Given the description of an element on the screen output the (x, y) to click on. 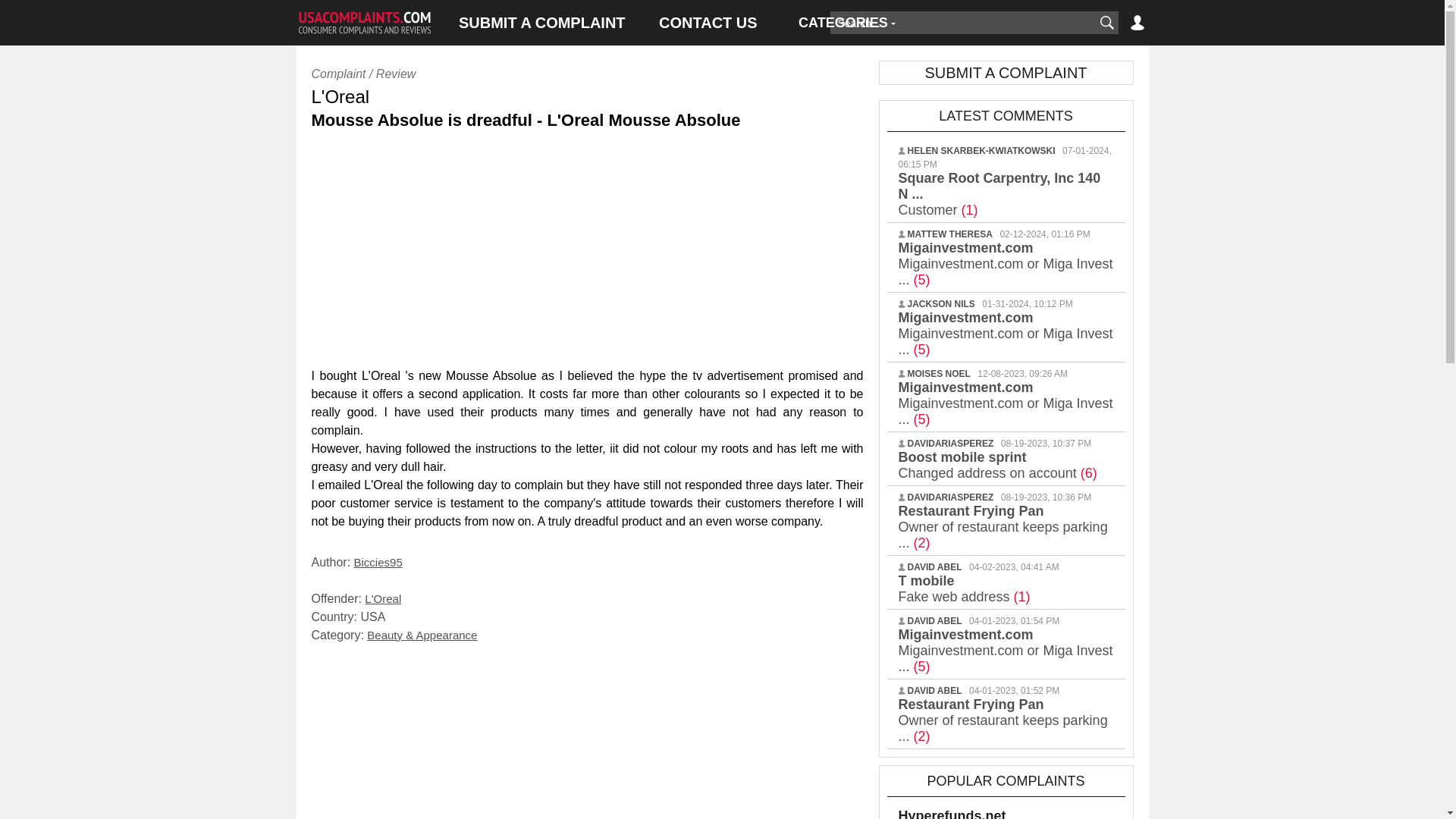
Search... (961, 22)
CONTACT US (708, 22)
T mobile - Fake web address (963, 588)
Find (1106, 22)
SUBMIT A COMPLAINT (542, 22)
Advertisement (587, 735)
